Given the description of an element on the screen output the (x, y) to click on. 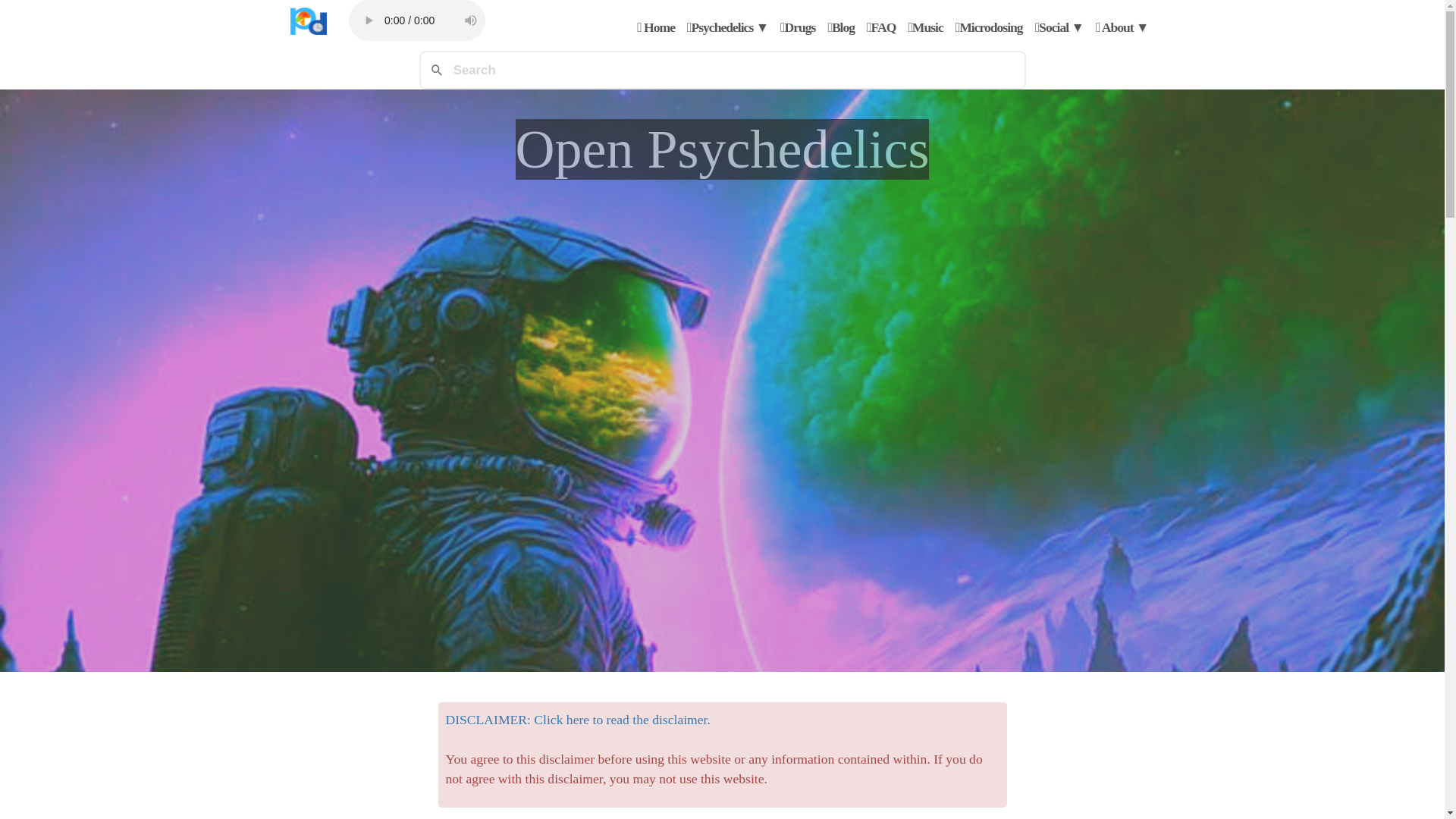
Open Psychedelics (307, 21)
DISCLAIMER: Click here to read the disclaimer. (577, 719)
Open Psychedelics - Go to homepage (308, 23)
